Given the description of an element on the screen output the (x, y) to click on. 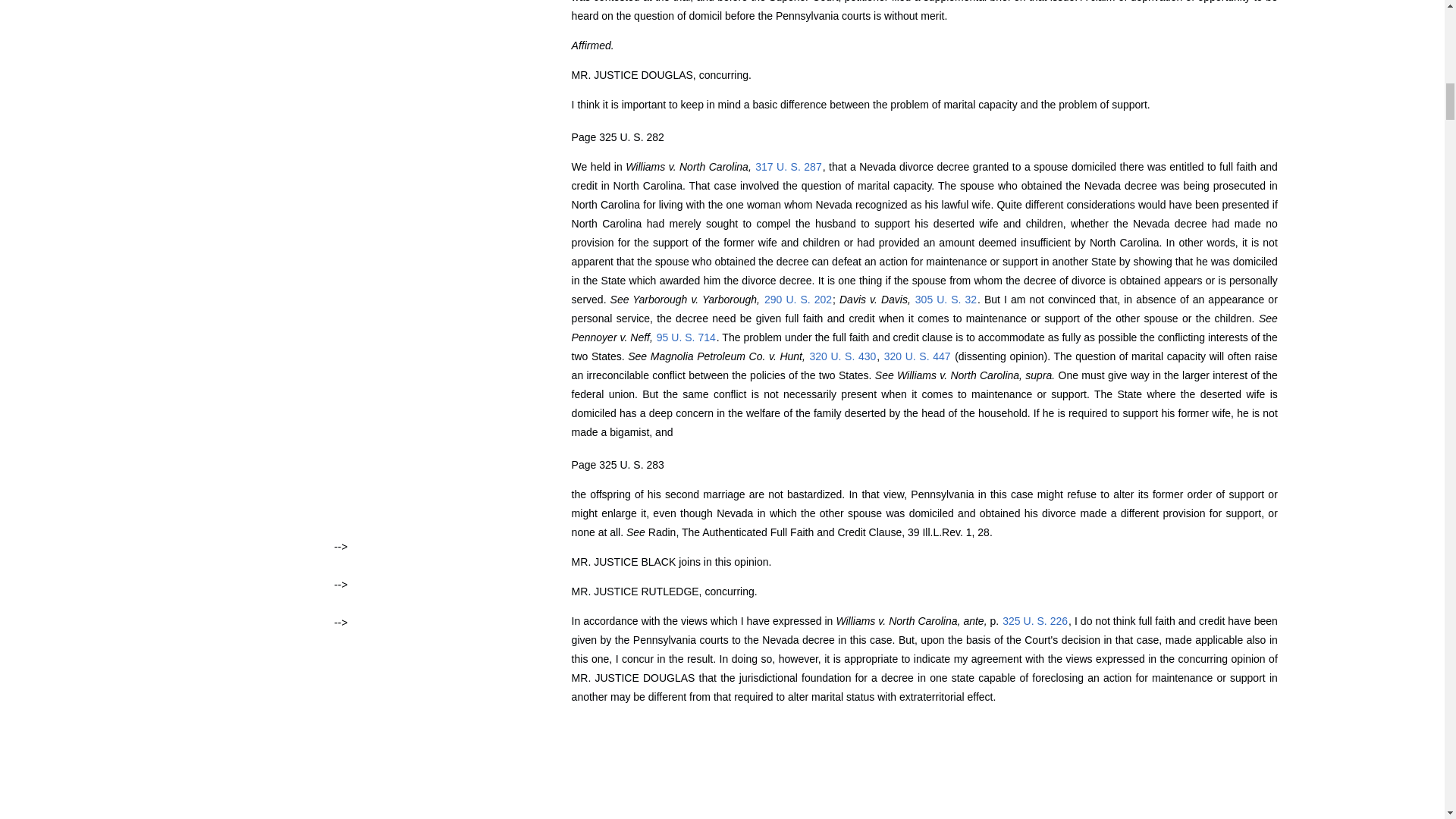
325 U. S. 226 (1034, 621)
Page 325 U. S. 283 (617, 464)
290 U. S. 202 (797, 299)
320 U. S. 430 (842, 356)
317 U. S. 287 (788, 166)
320 U. S. 447 (917, 356)
95 U. S. 714 (686, 337)
Page 325 U. S. 282 (617, 137)
305 U. S. 32 (945, 299)
